Given the description of an element on the screen output the (x, y) to click on. 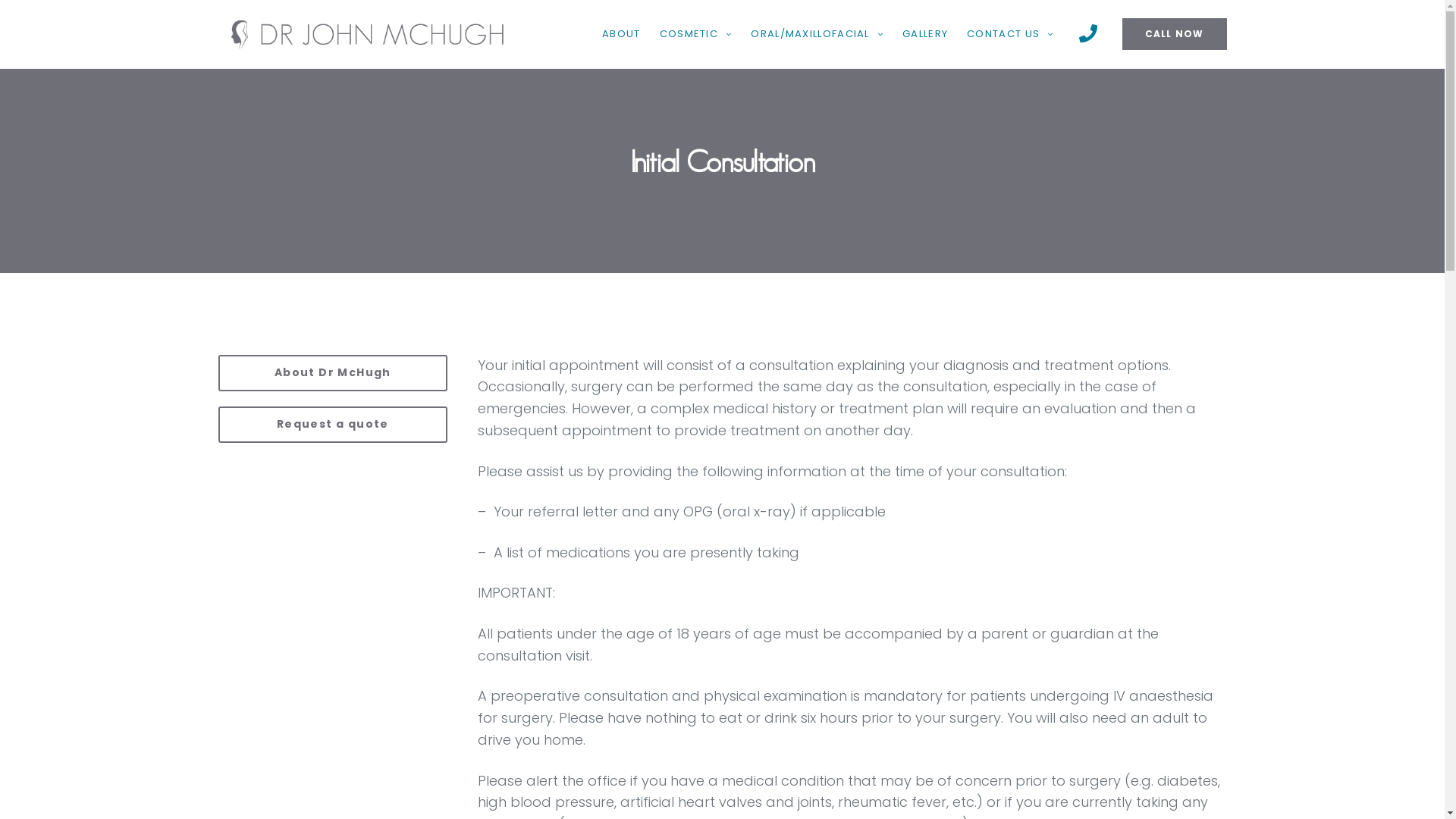
Request a quote Element type: text (333, 424)
CONTACT US Element type: text (1009, 33)
ORAL/MAXILLOFACIAL Element type: text (816, 33)
Dr John McHugh Element type: hover (368, 33)
GALLERY Element type: text (924, 33)
COSMETIC Element type: text (695, 33)
ABOUT Element type: text (621, 33)
CALL NOW Element type: text (1174, 34)
About Dr McHugh Element type: text (333, 372)
